Given the description of an element on the screen output the (x, y) to click on. 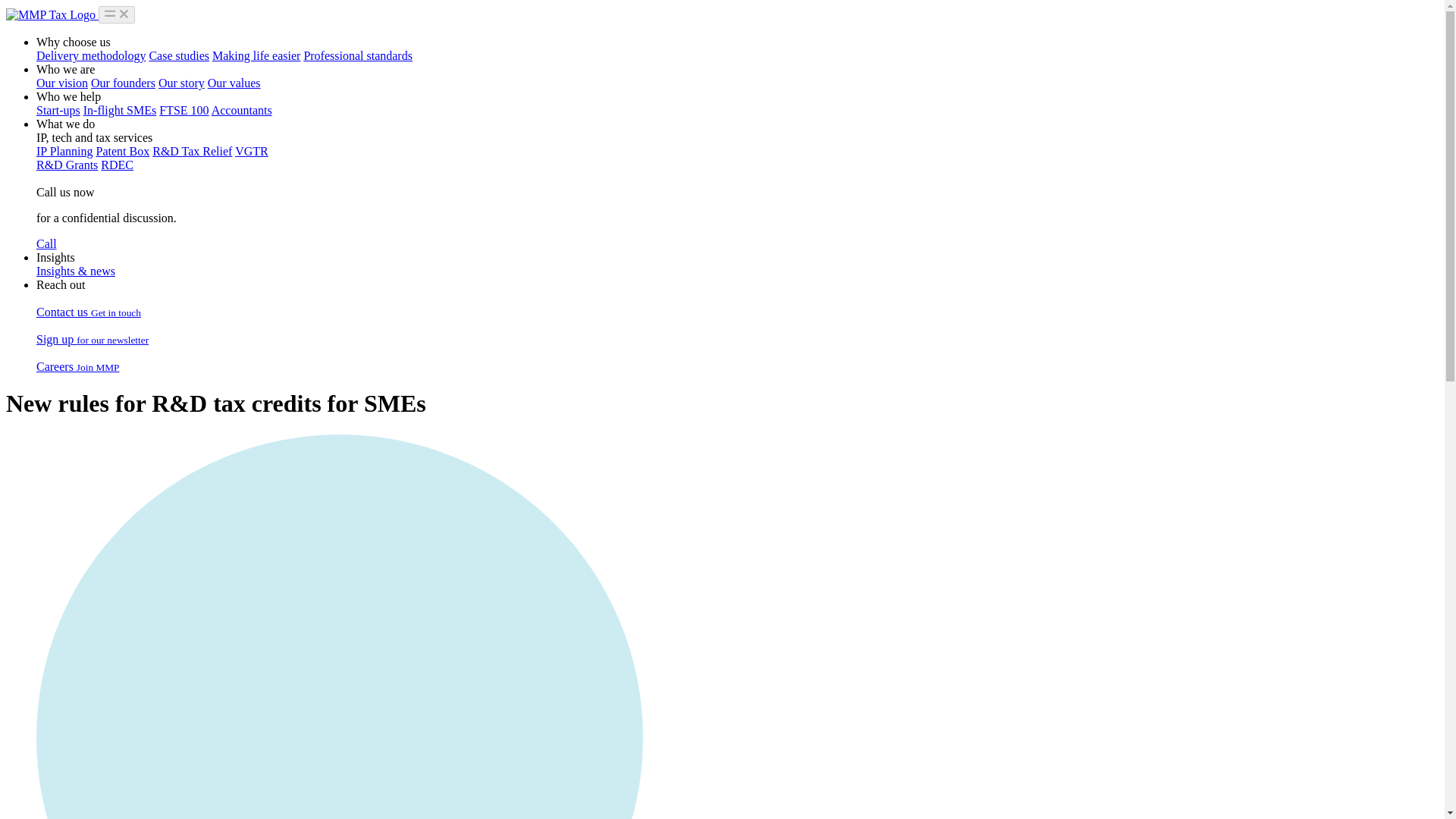
Making life easier (255, 55)
In-flight SMEs (118, 110)
Professional standards (357, 55)
Our founders (122, 82)
Patent Box (122, 151)
Our vision (61, 82)
Our values (234, 82)
Who we help (68, 96)
RDEC (116, 164)
Delivery methodology (90, 55)
